Given the description of an element on the screen output the (x, y) to click on. 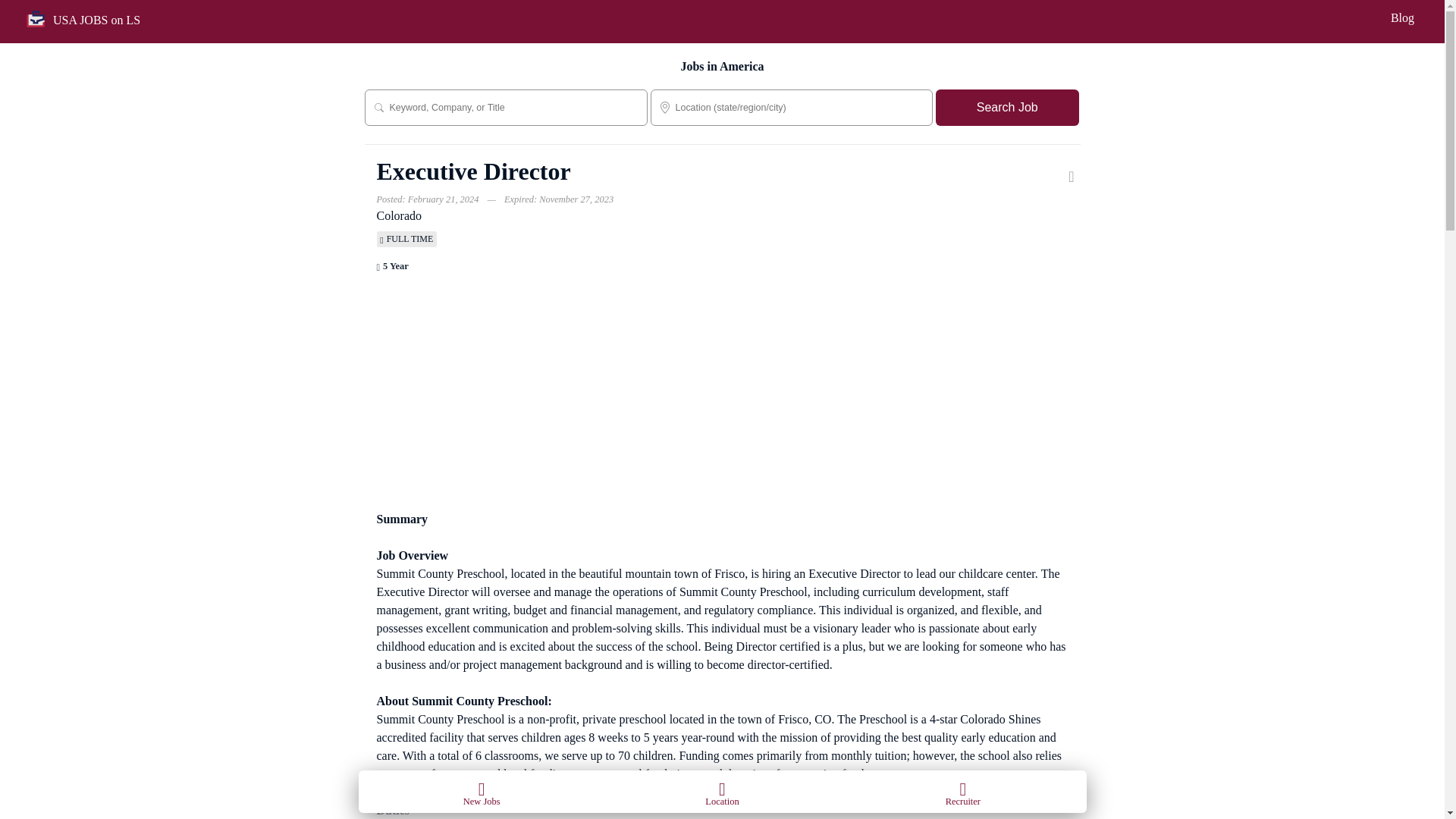
Search Job (1007, 107)
Location (722, 791)
Recruiter (963, 791)
USA JOBS on LS (94, 19)
New Jobs (481, 791)
Blog (1401, 17)
